Given the description of an element on the screen output the (x, y) to click on. 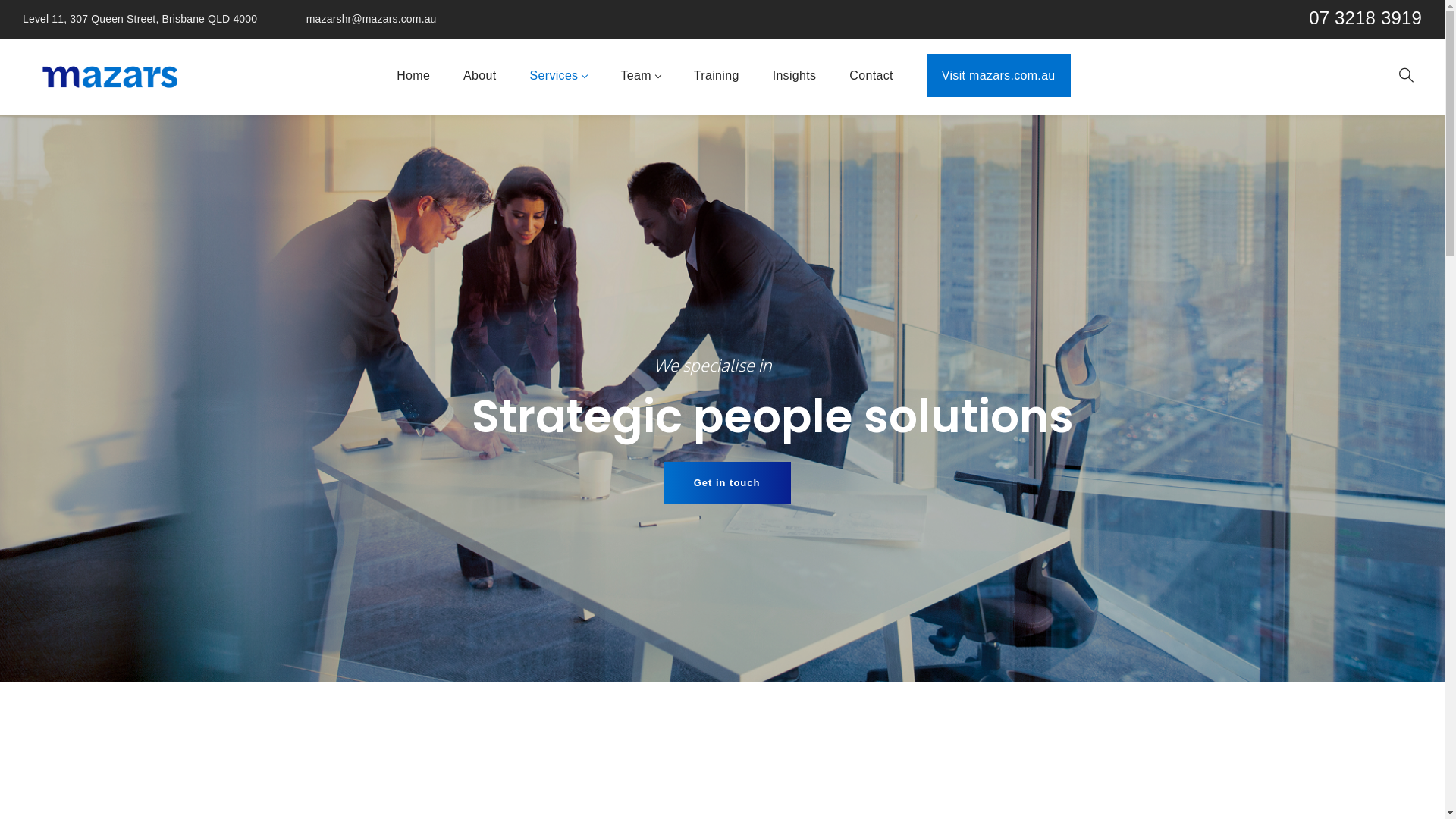
About Element type: text (479, 76)
Contact Element type: text (870, 76)
Home Element type: text (412, 76)
Team Element type: text (639, 76)
Services Element type: text (558, 76)
Visit mazars.com.au Element type: text (998, 76)
Get in touch Element type: text (726, 482)
Search Element type: text (1147, 112)
Insights Element type: text (794, 76)
mazarshr@mazars.com.au Element type: text (371, 18)
Training Element type: text (716, 76)
